Given the description of an element on the screen output the (x, y) to click on. 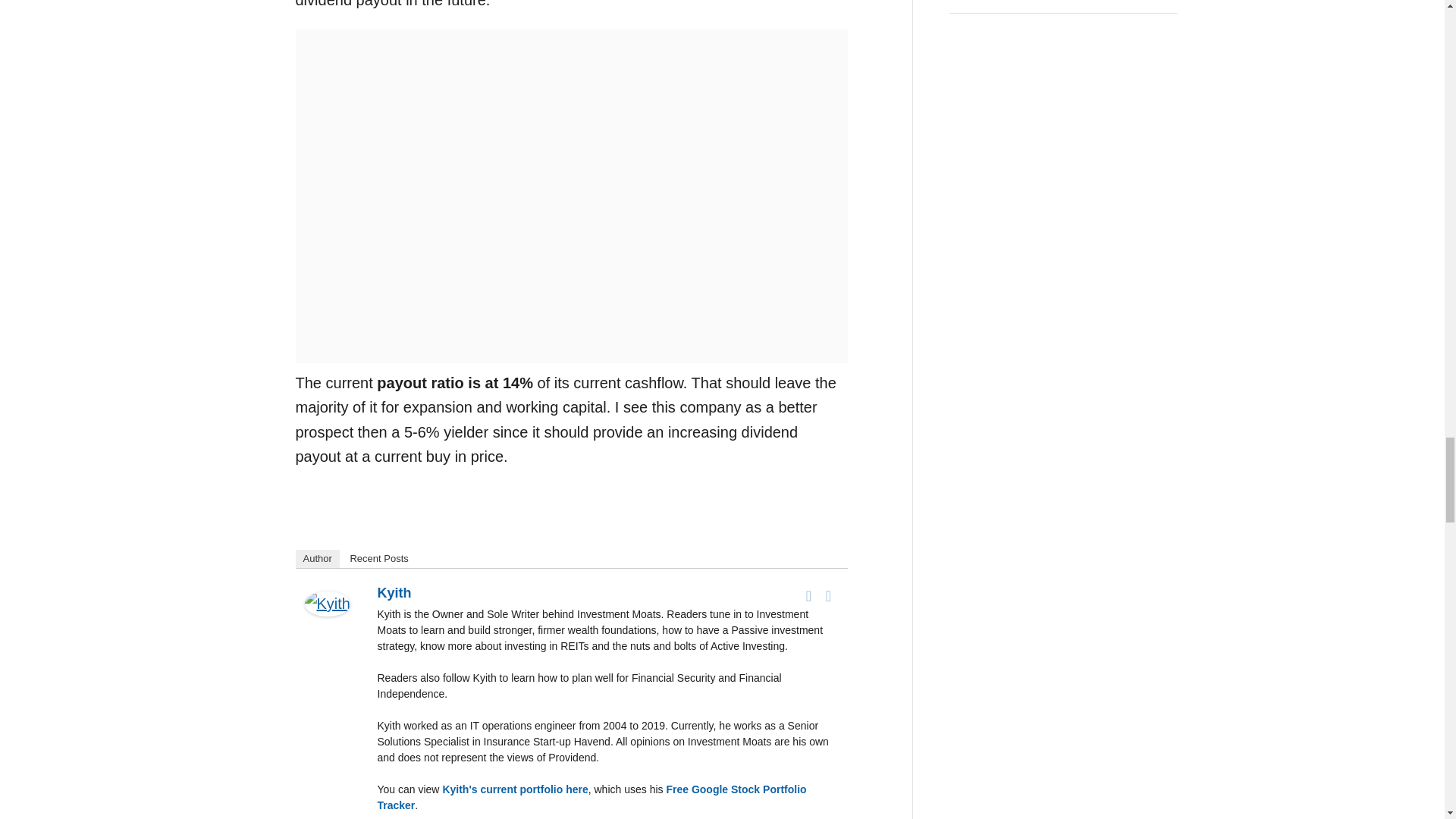
Twitter (827, 596)
Recent Posts (378, 558)
Kyith (327, 626)
Author (317, 558)
Facebook (807, 596)
